Given the description of an element on the screen output the (x, y) to click on. 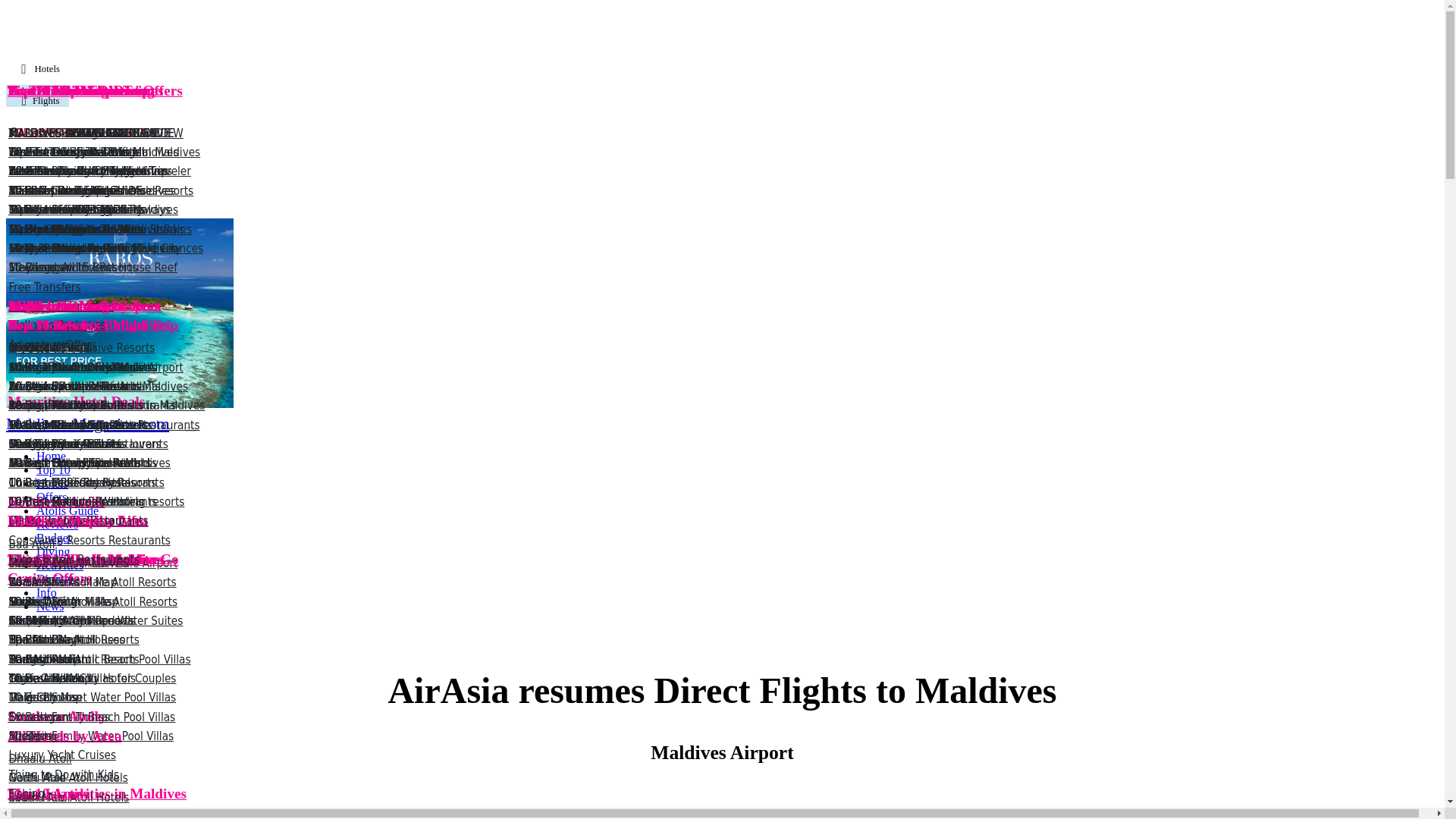
jump to main page (86, 424)
Top 10 (52, 469)
Hotels (52, 482)
Maldives-Magazine.com (86, 424)
